Given the description of an element on the screen output the (x, y) to click on. 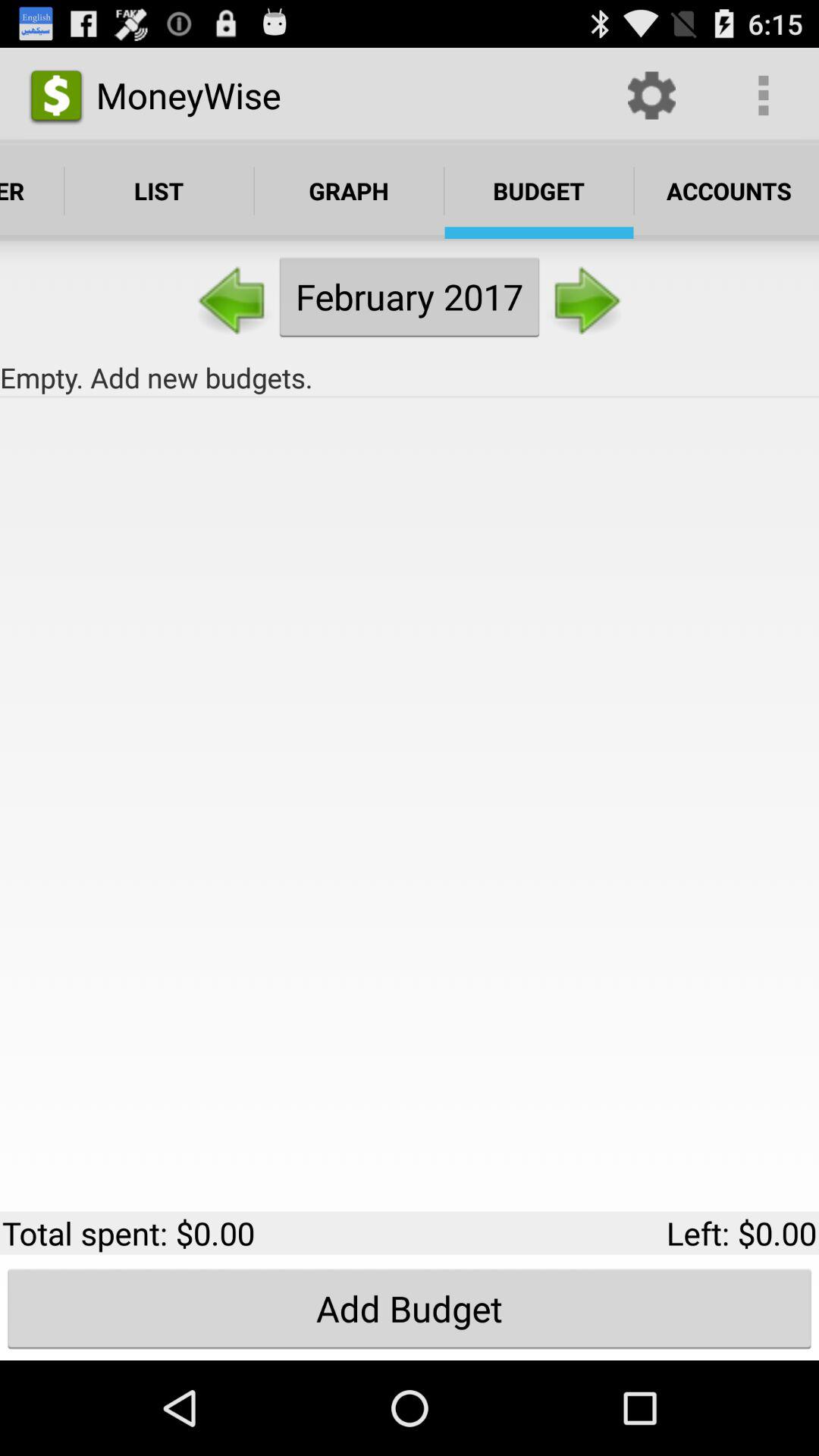
tap button to the left of february 2017 item (233, 296)
